Given the description of an element on the screen output the (x, y) to click on. 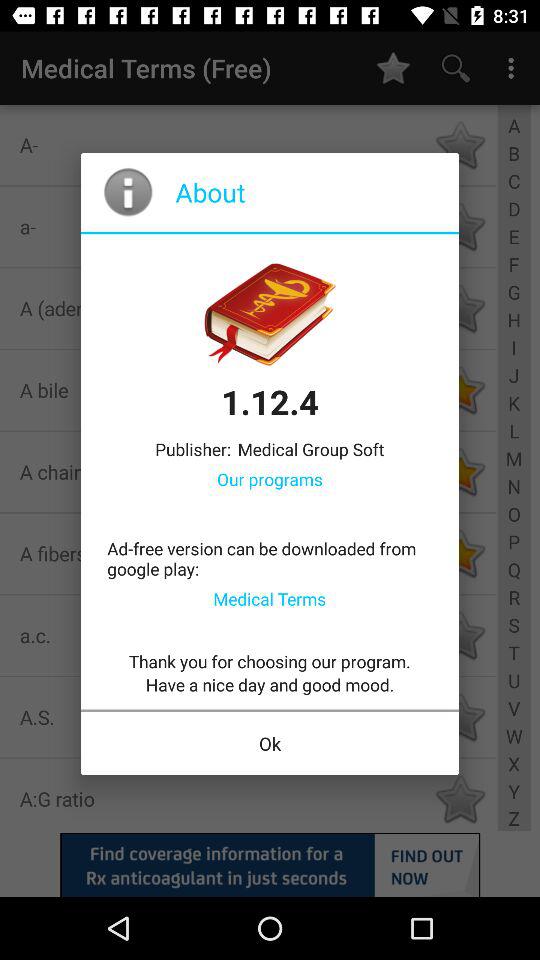
select the medical terms item (269, 598)
